Given the description of an element on the screen output the (x, y) to click on. 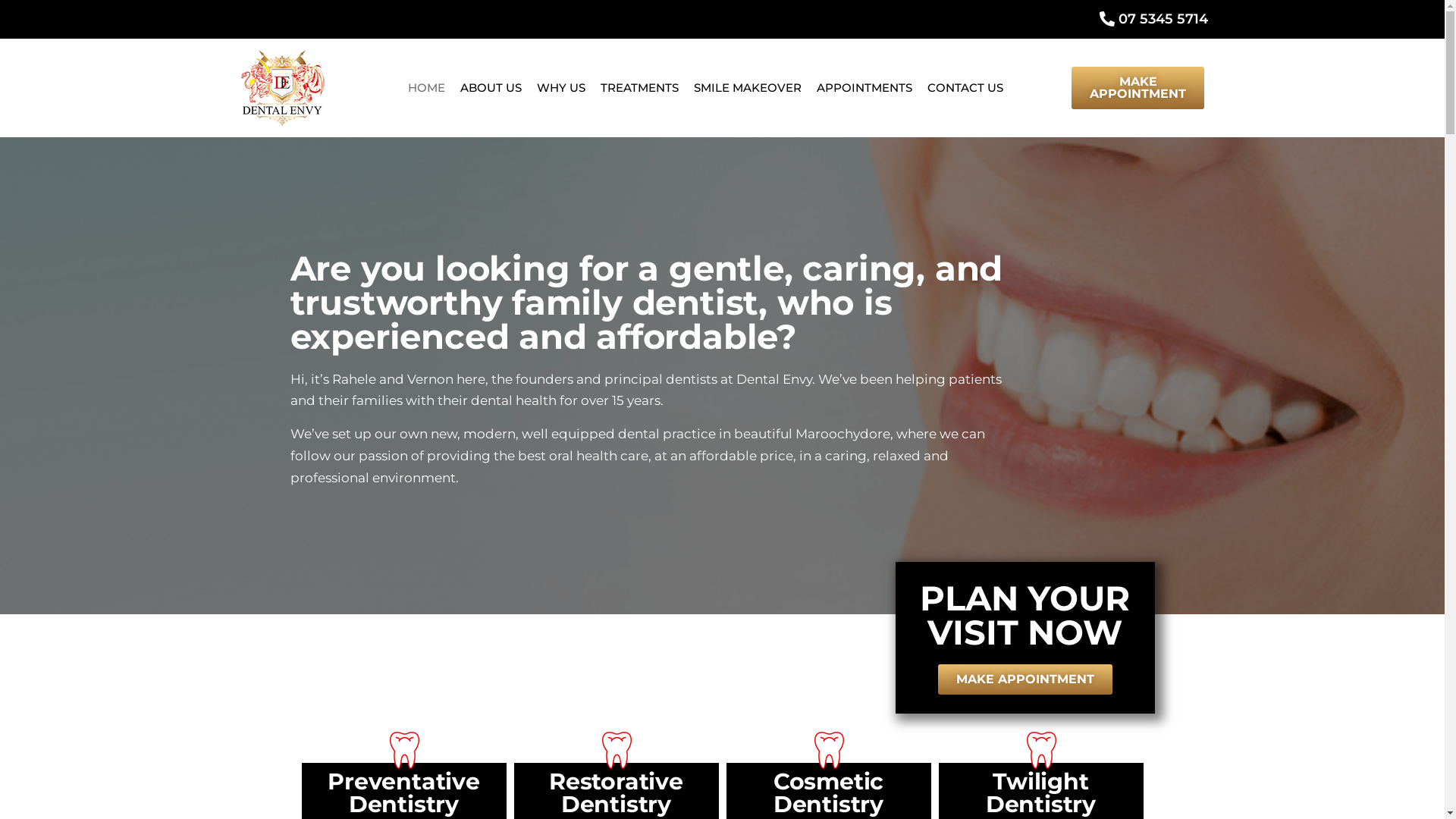
CONTACT US Element type: text (964, 87)
MAKE APPOINTMENT Element type: text (1137, 87)
ABOUT US Element type: text (490, 87)
APPOINTMENTS Element type: text (864, 87)
MAKE APPOINTMENT Element type: text (1024, 679)
TREATMENTS Element type: text (639, 87)
WHY US Element type: text (561, 87)
SMILE MAKEOVER Element type: text (747, 87)
HOME Element type: text (426, 87)
07 5345 5714 Element type: text (721, 19)
